Given the description of an element on the screen output the (x, y) to click on. 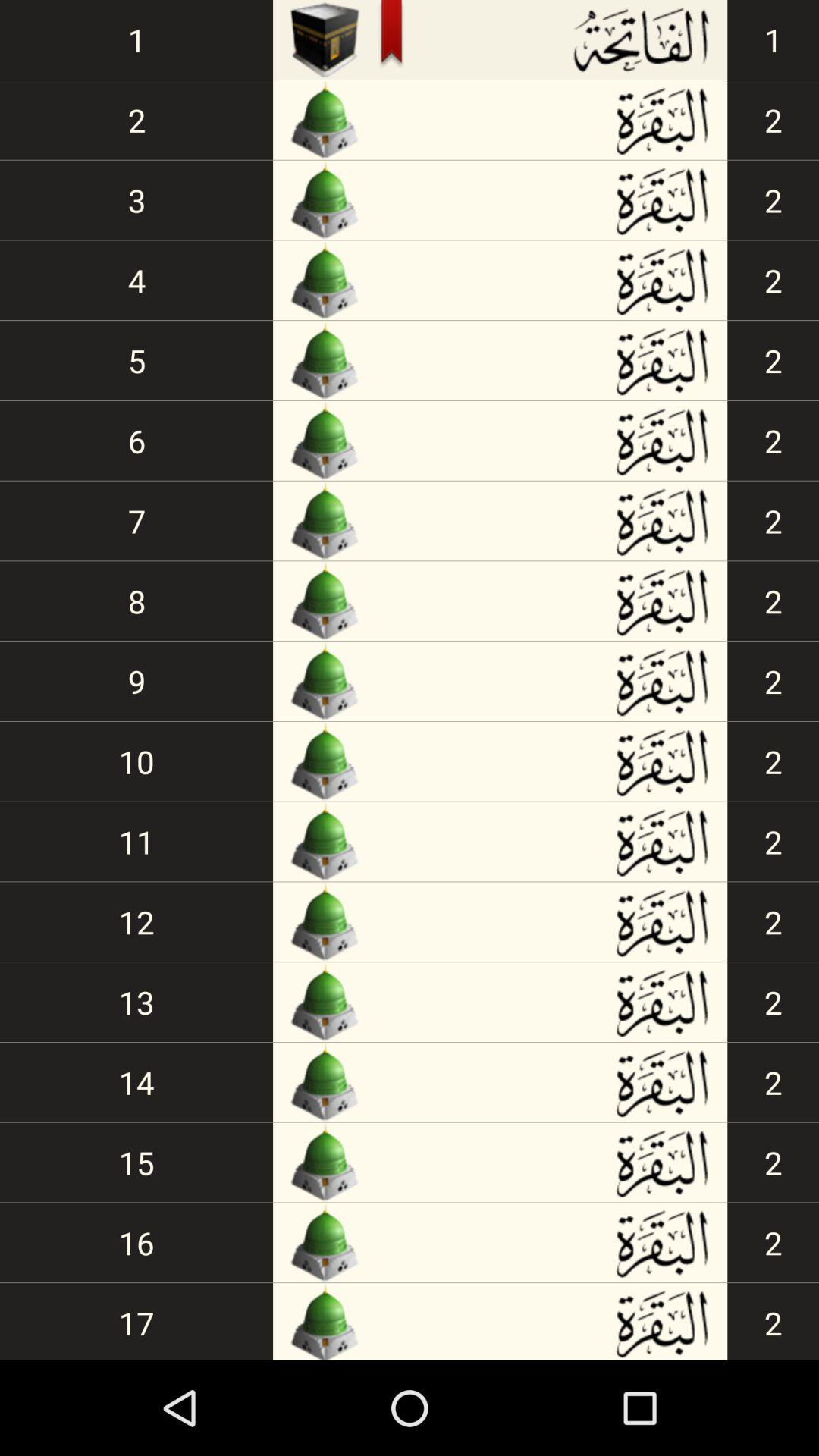
tap 8 (136, 600)
